Given the description of an element on the screen output the (x, y) to click on. 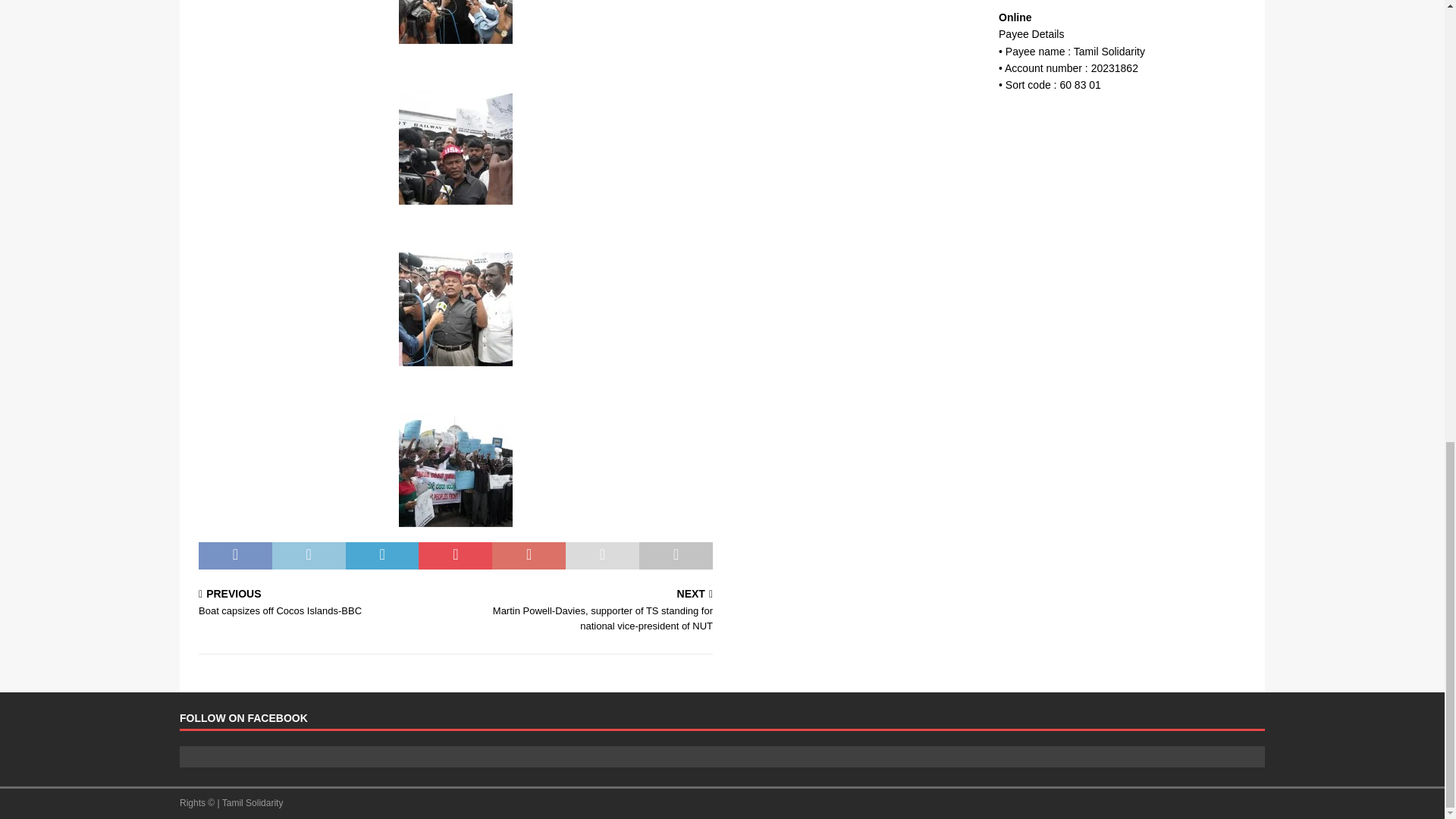
1p (455, 22)
3p (455, 309)
2p (455, 147)
9p (455, 470)
